Given the description of an element on the screen output the (x, y) to click on. 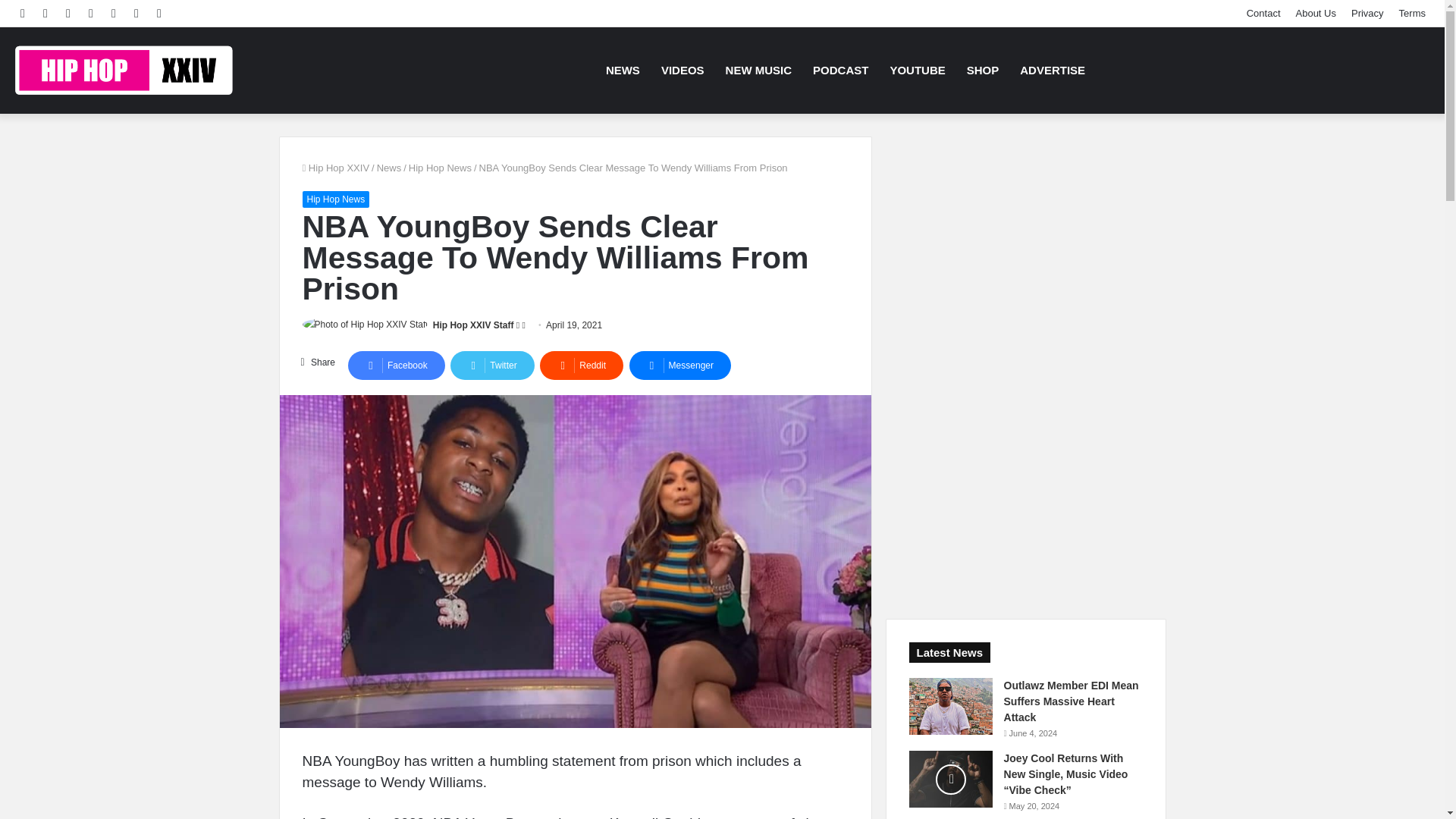
Terms (1411, 13)
Hip Hop News (440, 167)
Hip Hop XXIV Staff (472, 325)
Twitter (491, 365)
About Us (1314, 13)
ADVERTISE (1052, 69)
Contact (1263, 13)
NEW MUSIC (758, 69)
Hip Hop XXIV (124, 69)
Privacy (1367, 13)
